Given the description of an element on the screen output the (x, y) to click on. 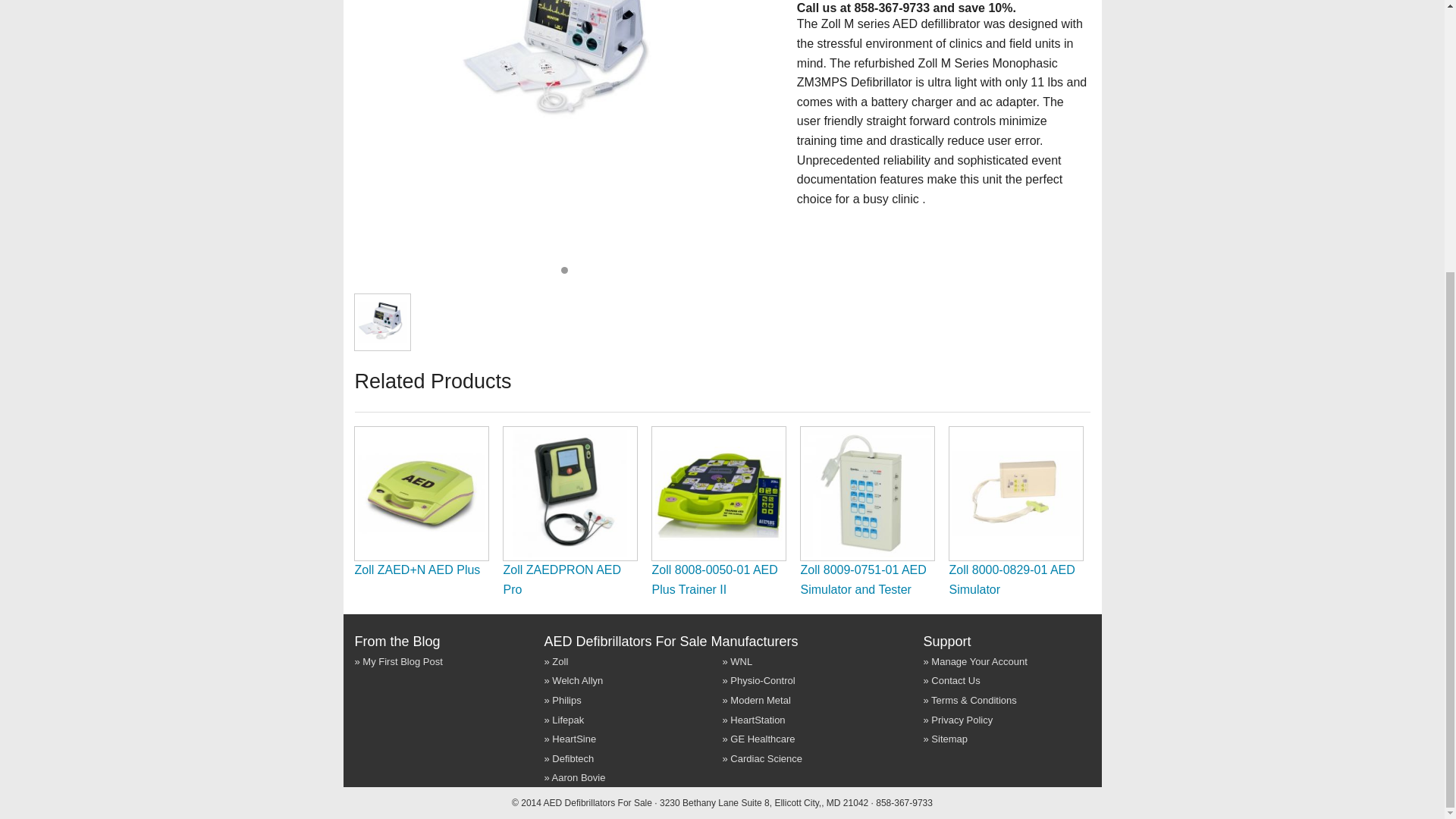
Zoll ZAEDPRON AED Pro (562, 579)
Zoll 8008-0050-01 AED Plus Trainer II (714, 579)
Zoll 8000-0829-01 AED Simulator (1012, 579)
Zoll 8009-0751-01 AED Simulator and Tester (863, 579)
